Given the description of an element on the screen output the (x, y) to click on. 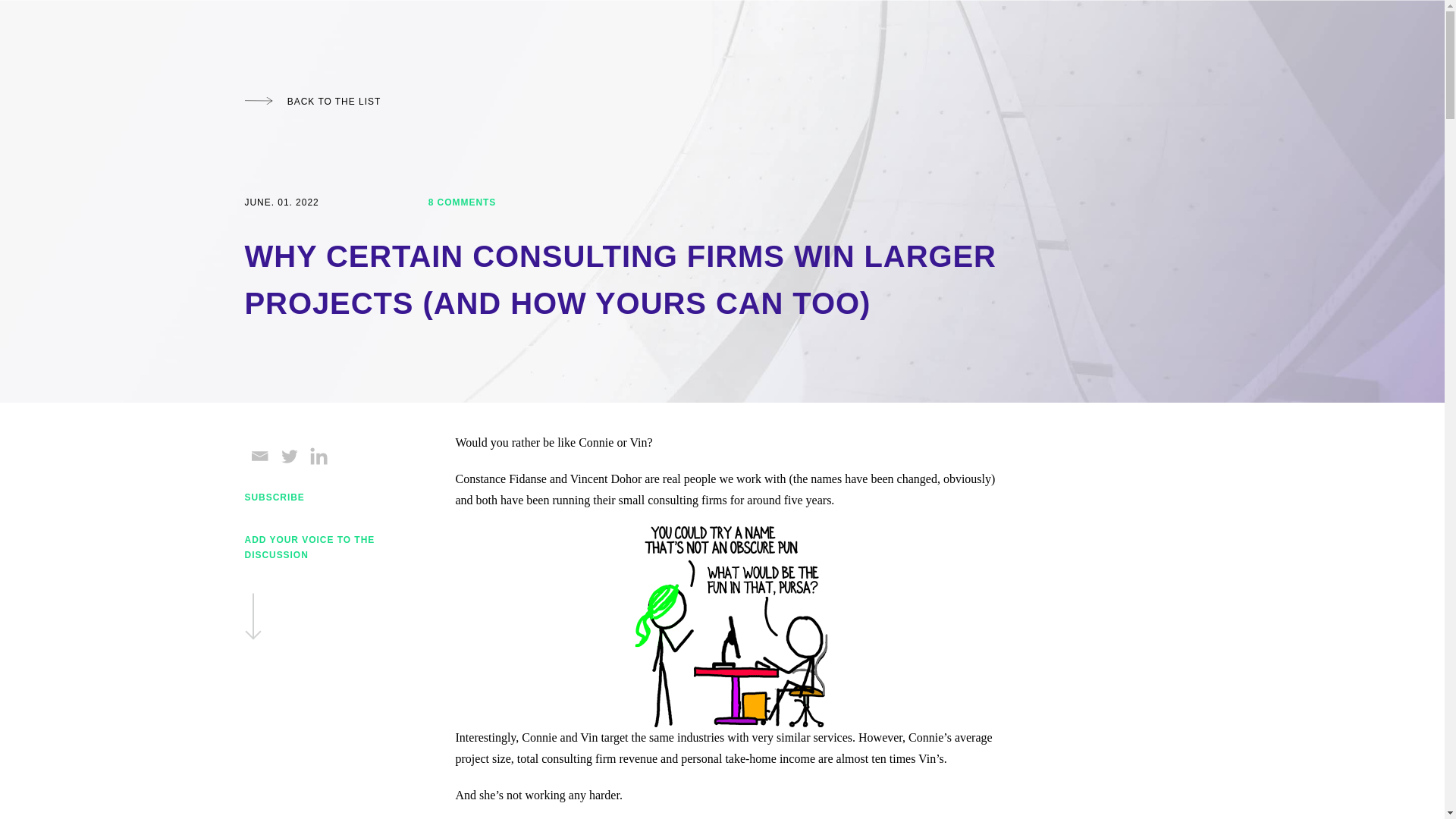
Linkedin (317, 456)
ADD YOUR VOICE TO THE DISCUSSION (316, 587)
SUBSCRIBE (274, 497)
ADD YOUR VOICE TO THE DISCUSSION (316, 587)
Twitter (289, 456)
Email (259, 456)
BACK TO THE LIST (312, 101)
